Given the description of an element on the screen output the (x, y) to click on. 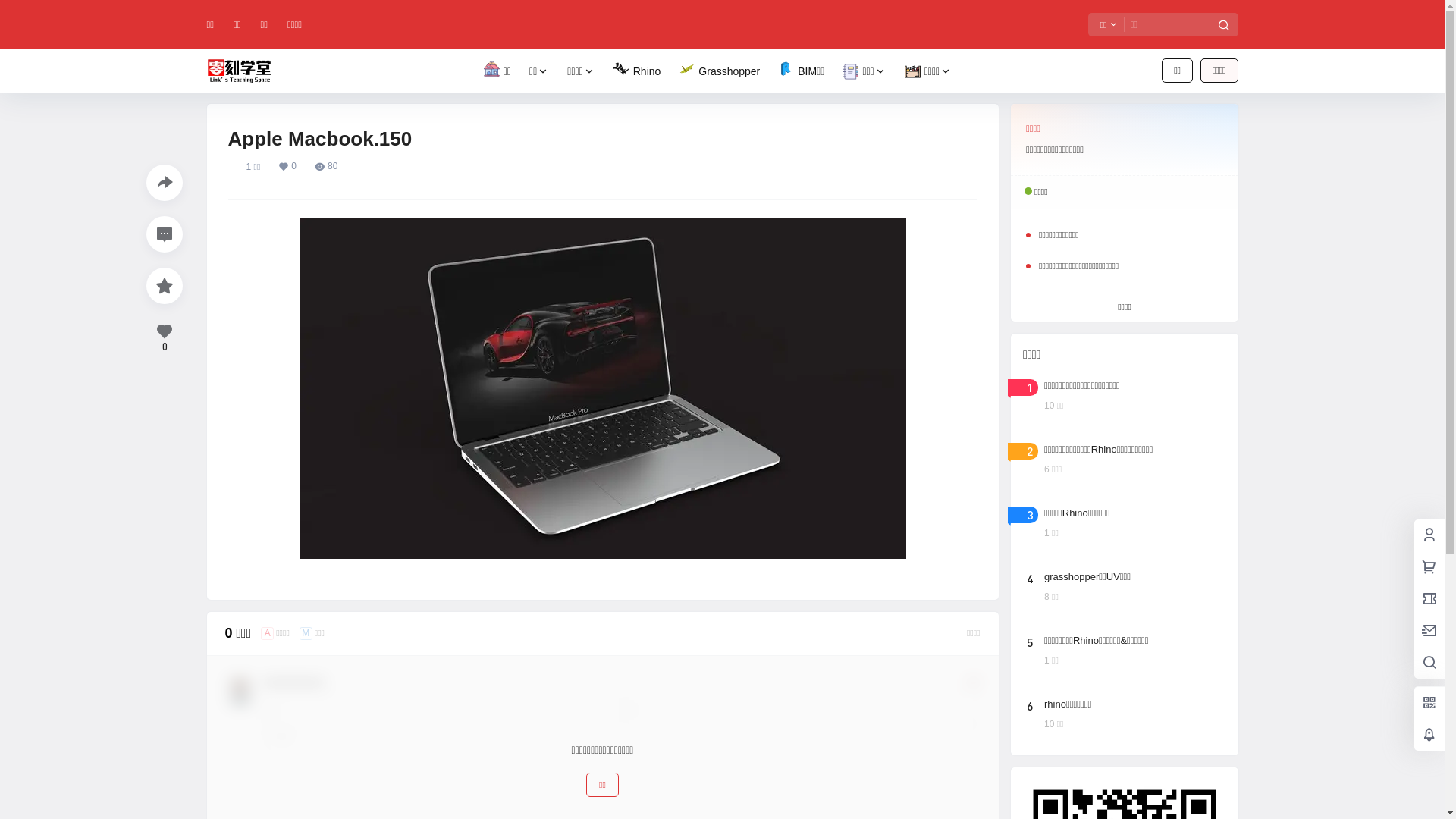
Grasshopper Element type: text (718, 71)
Rhino Element type: text (637, 71)
ok Element type: text (10, 10)
